Given the description of an element on the screen output the (x, y) to click on. 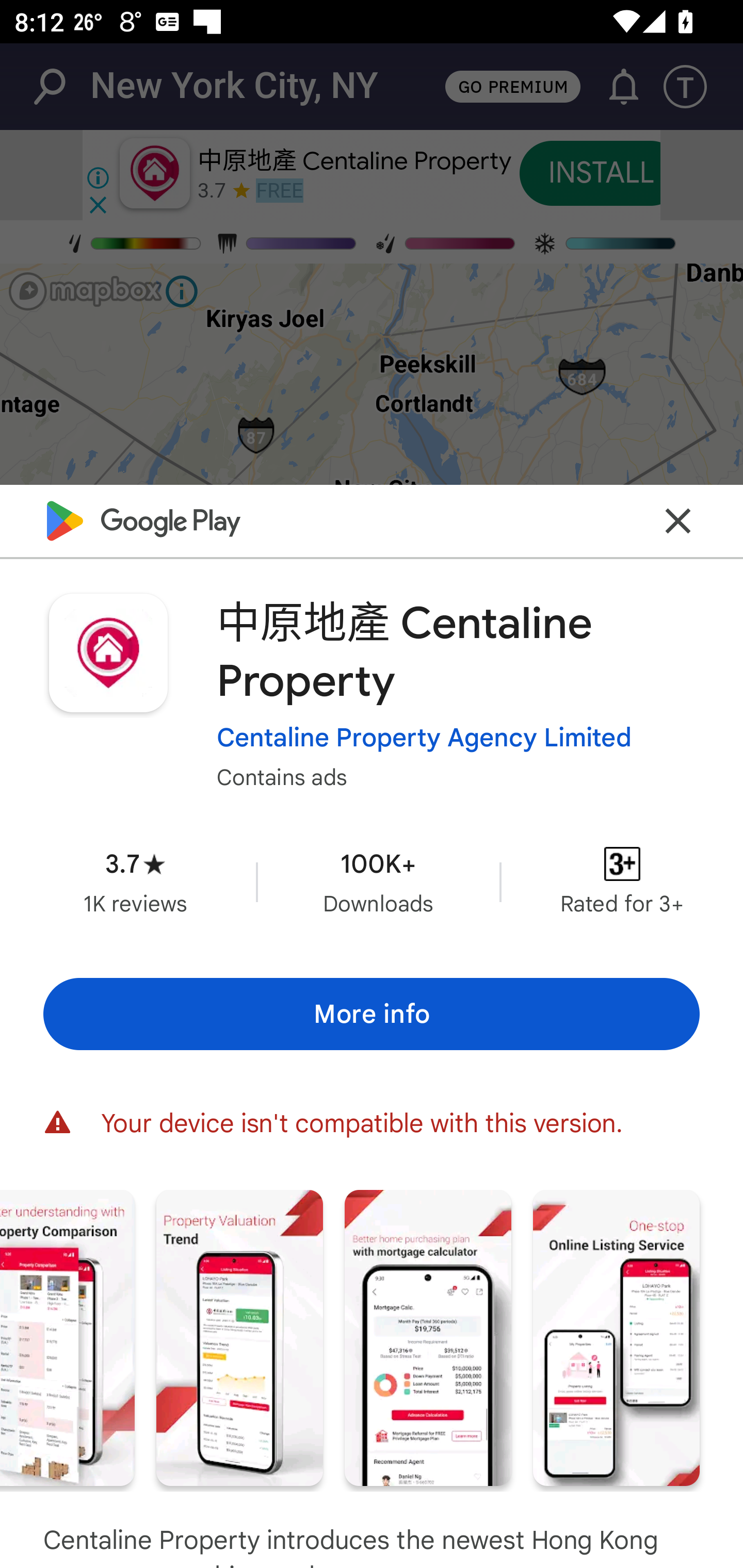
Close (677, 520)
Centaline Property Agency Limited (423, 737)
More info (371, 1014)
Screenshot "5" of "8" (67, 1338)
Screenshot "6" of "8" (239, 1338)
Screenshot "7" of "8" (427, 1338)
Screenshot "8" of "8" (615, 1338)
